Given the description of an element on the screen output the (x, y) to click on. 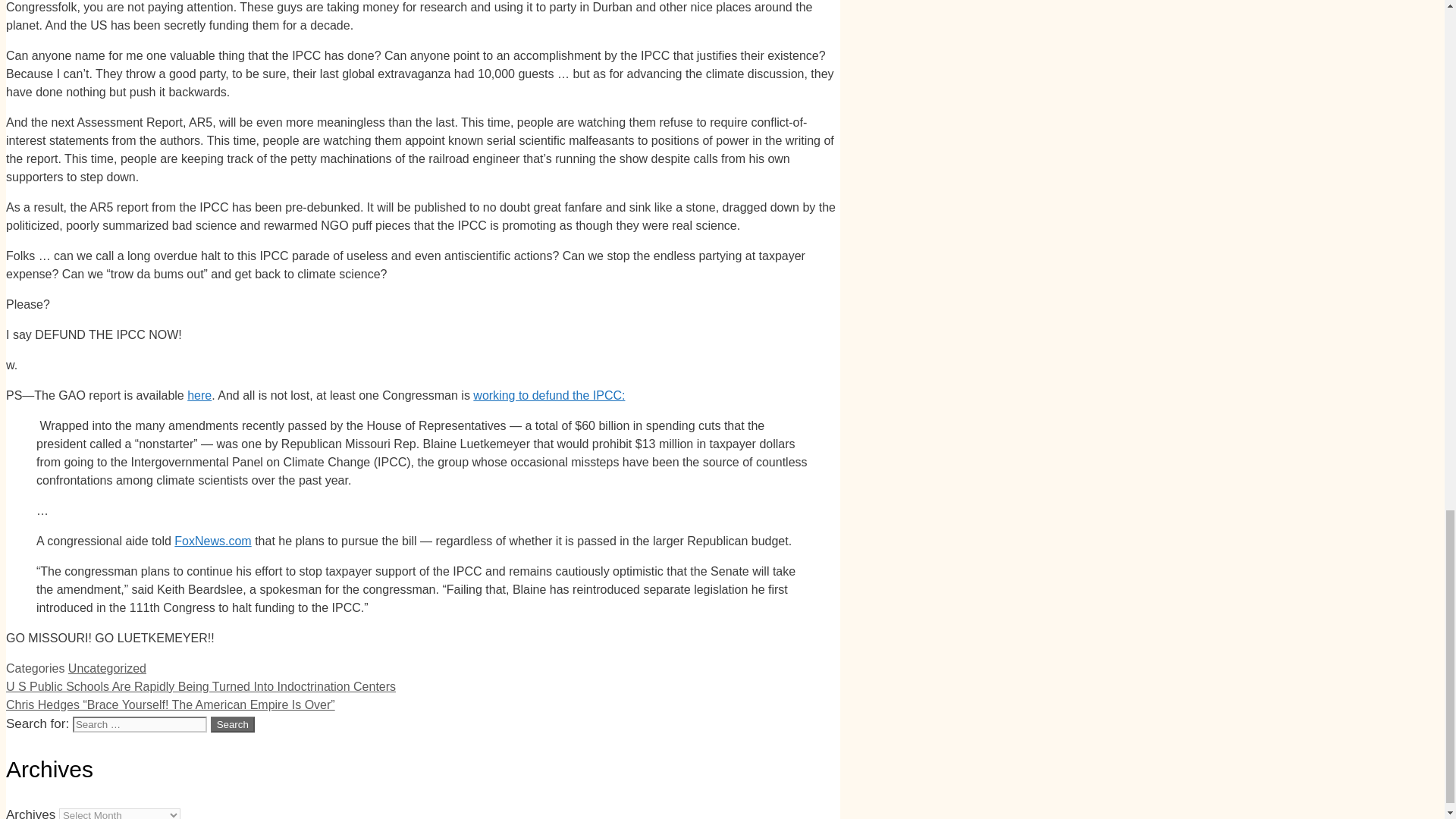
Search (232, 724)
here (199, 395)
Search for: (139, 724)
Uncategorized (107, 667)
Search (232, 724)
Search (232, 724)
FoxNews.com (212, 540)
working to defund the IPCC: (548, 395)
